Given the description of an element on the screen output the (x, y) to click on. 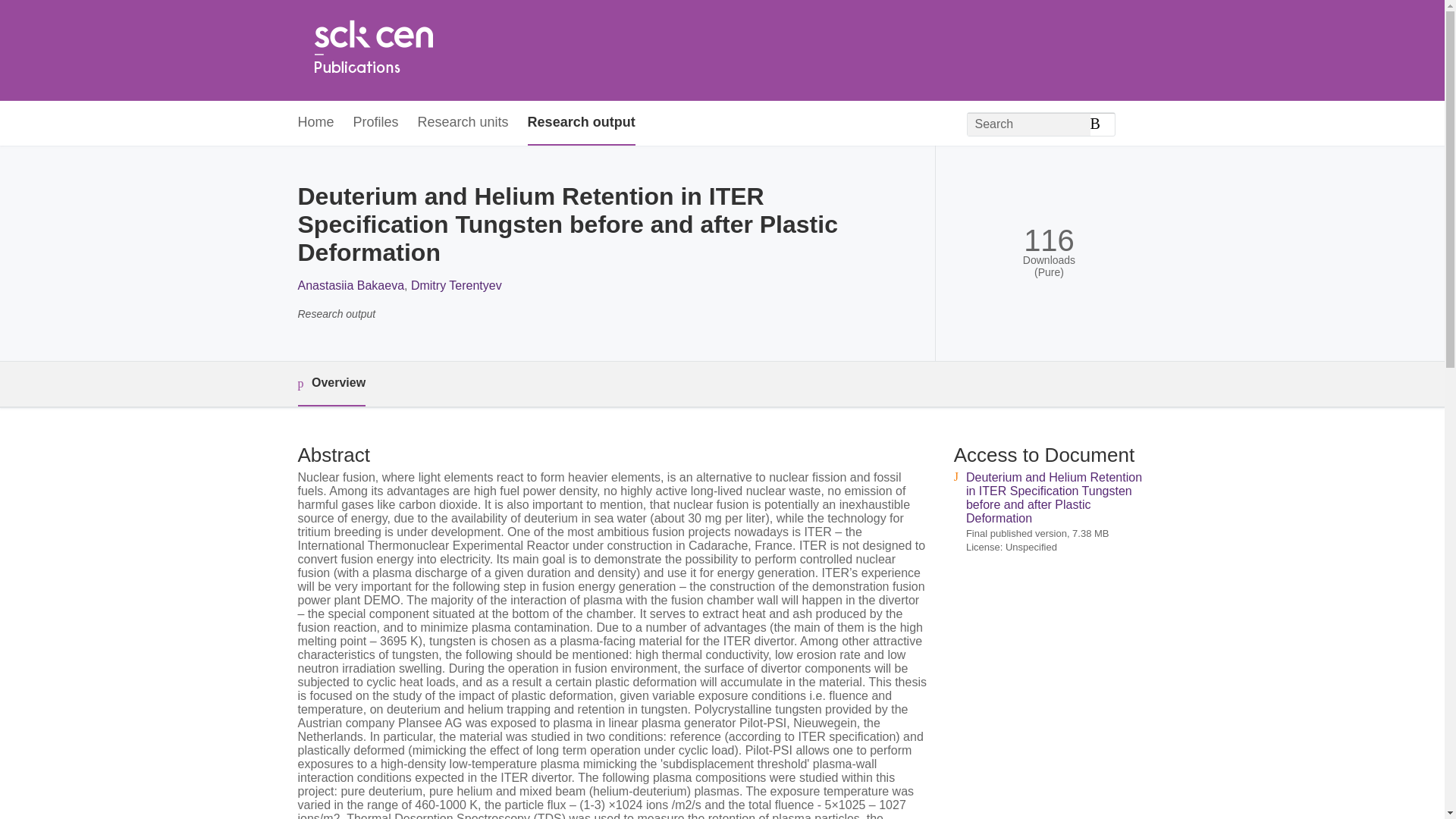
Home (372, 50)
Research output (580, 122)
Research units (462, 122)
Dmitry Terentyev (456, 285)
Anastasiia Bakaeva (350, 285)
Profiles (375, 122)
Overview (331, 383)
